Given the description of an element on the screen output the (x, y) to click on. 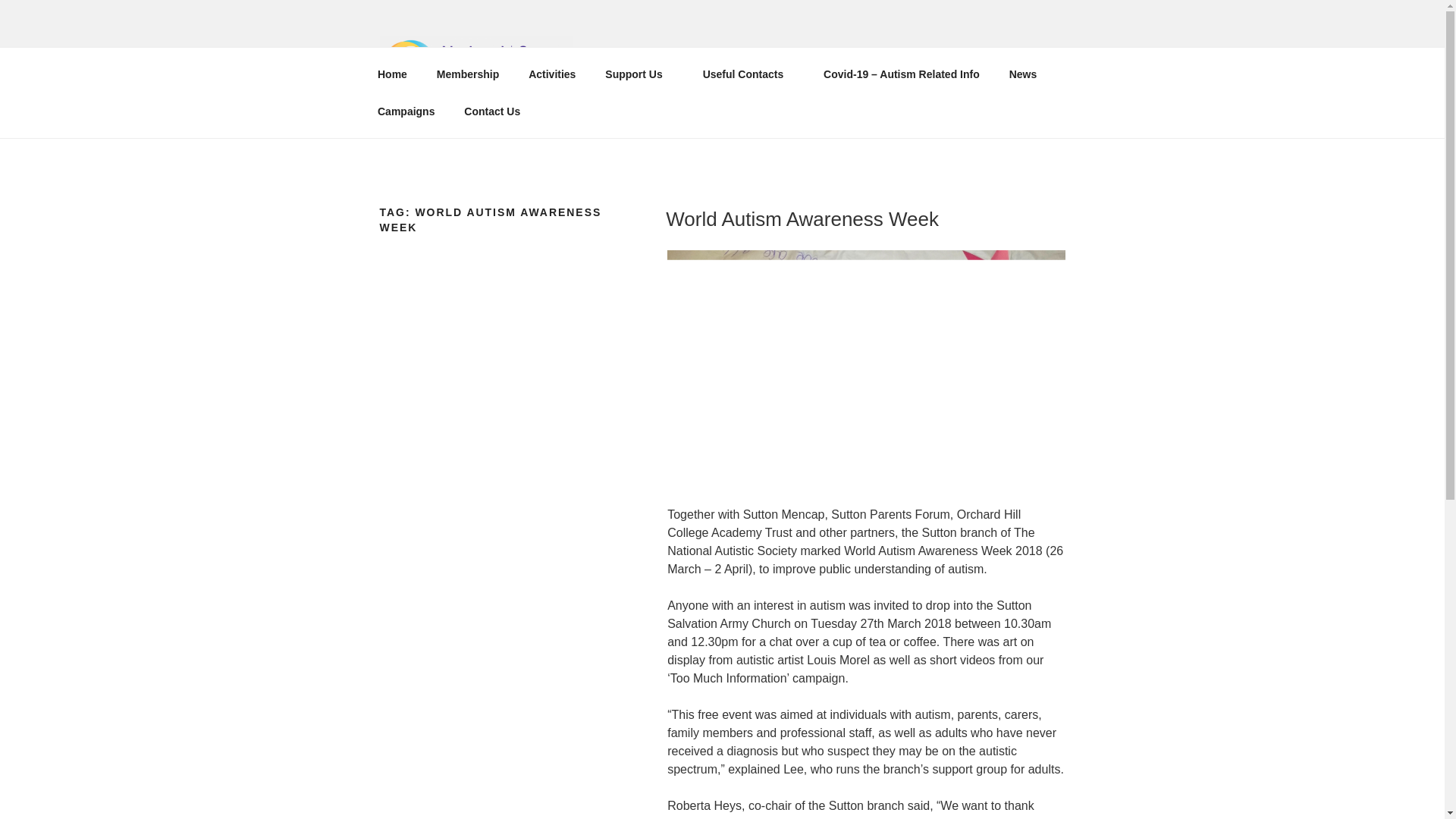
Activities (552, 74)
Contact Us (492, 110)
News (1022, 74)
Useful Contacts (748, 74)
Support Us (638, 74)
Campaigns (405, 110)
Home (392, 74)
Membership (467, 74)
World Autism Awareness Week (802, 219)
